Given the description of an element on the screen output the (x, y) to click on. 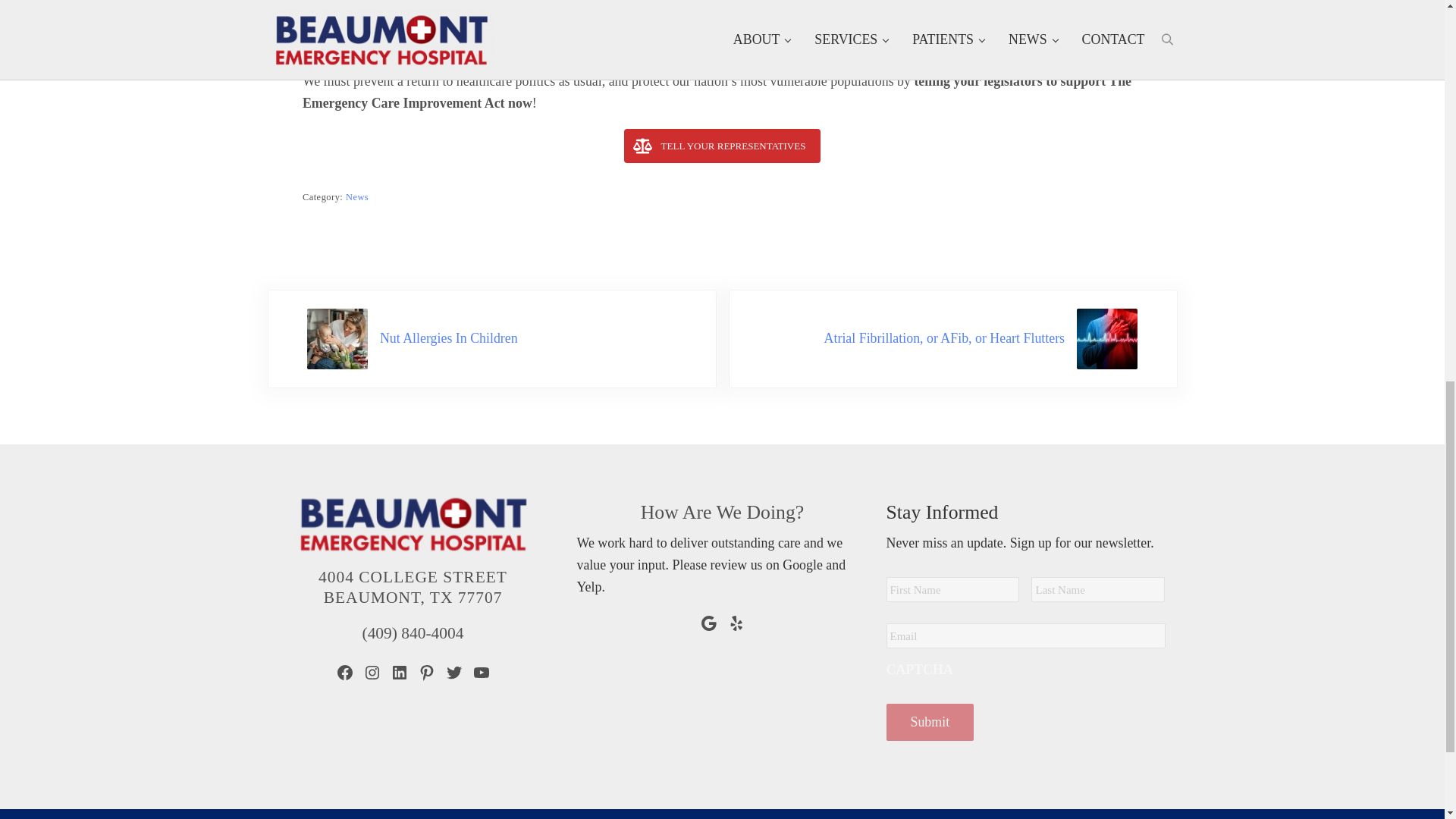
Submit (929, 721)
